Given the description of an element on the screen output the (x, y) to click on. 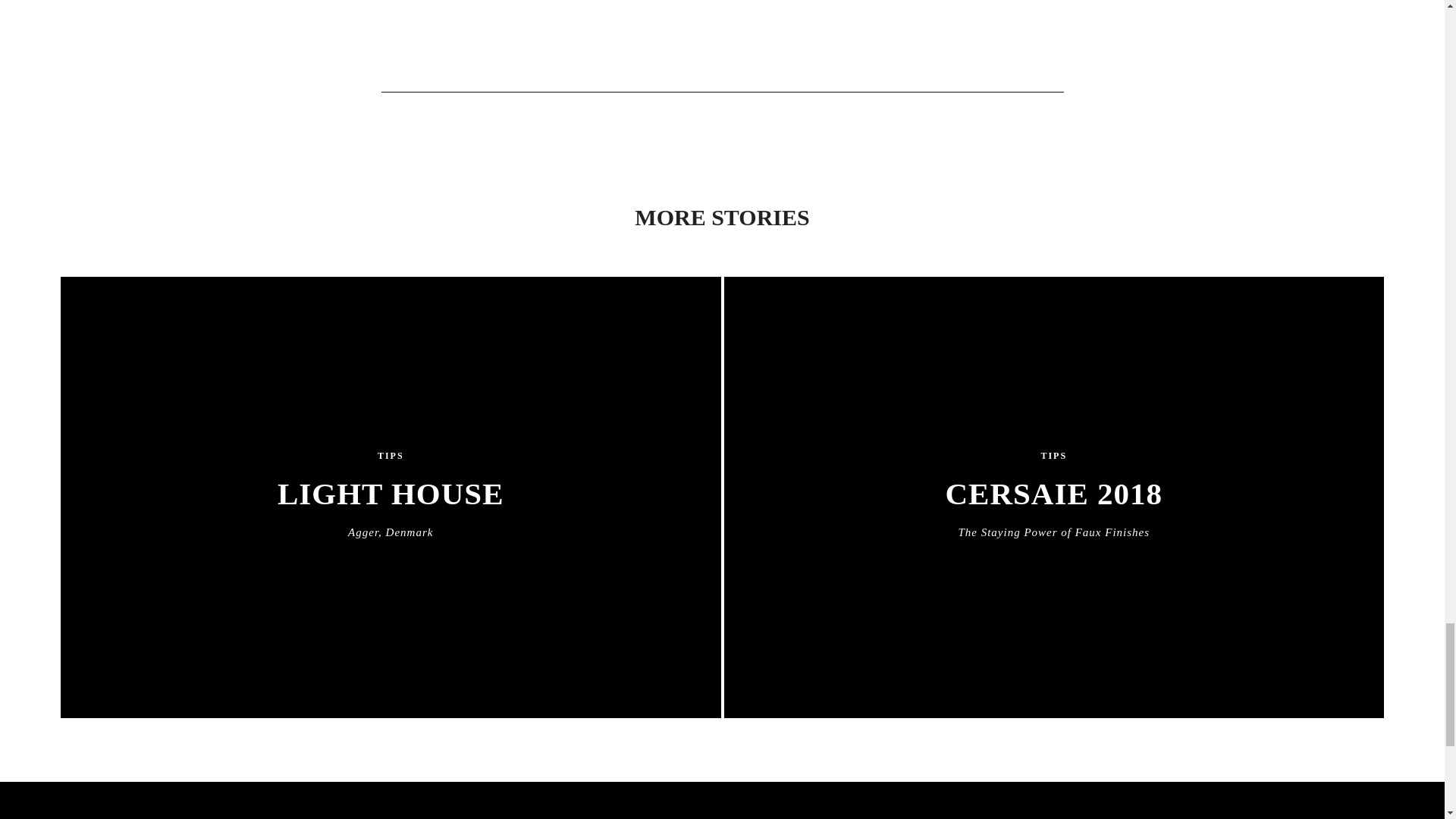
TIPS (390, 456)
View all posts in tips (1053, 508)
View all posts in tips (390, 456)
TIPS (389, 508)
